Given the description of an element on the screen output the (x, y) to click on. 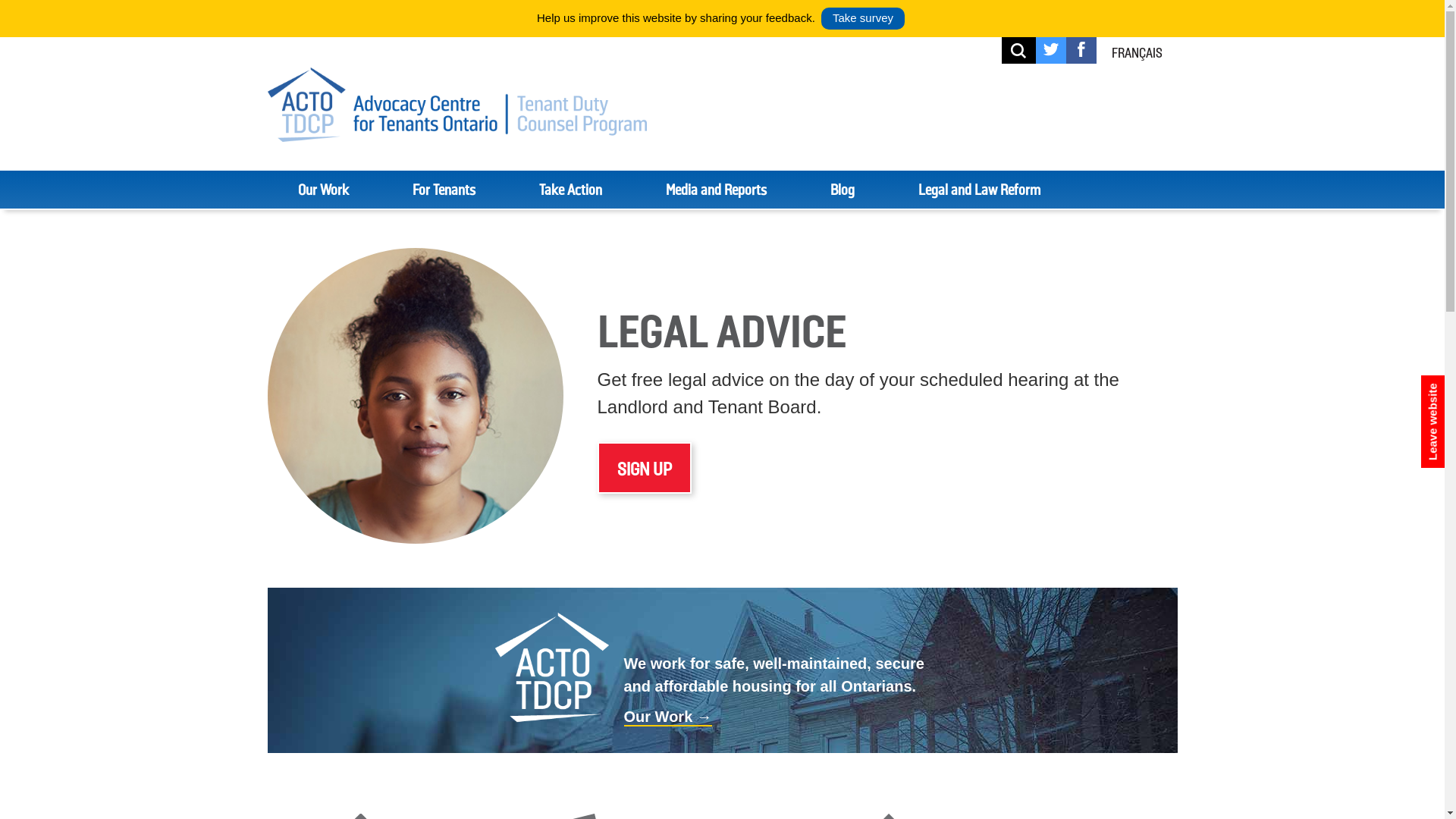
SIGN UP Element type: text (644, 467)
Media and Reports Element type: text (716, 189)
Our Work Element type: text (322, 189)
Legal and Law Reform Element type: text (978, 189)
For Tenants Element type: text (443, 189)
Facebook Element type: text (1081, 51)
Search Element type: text (1034, 36)
Take Action Element type: text (569, 189)
Twitter Element type: text (1050, 51)
Take survey Element type: text (862, 18)
Skip to primary navigation Element type: text (0, 0)
Blog Element type: text (841, 189)
